Given the description of an element on the screen output the (x, y) to click on. 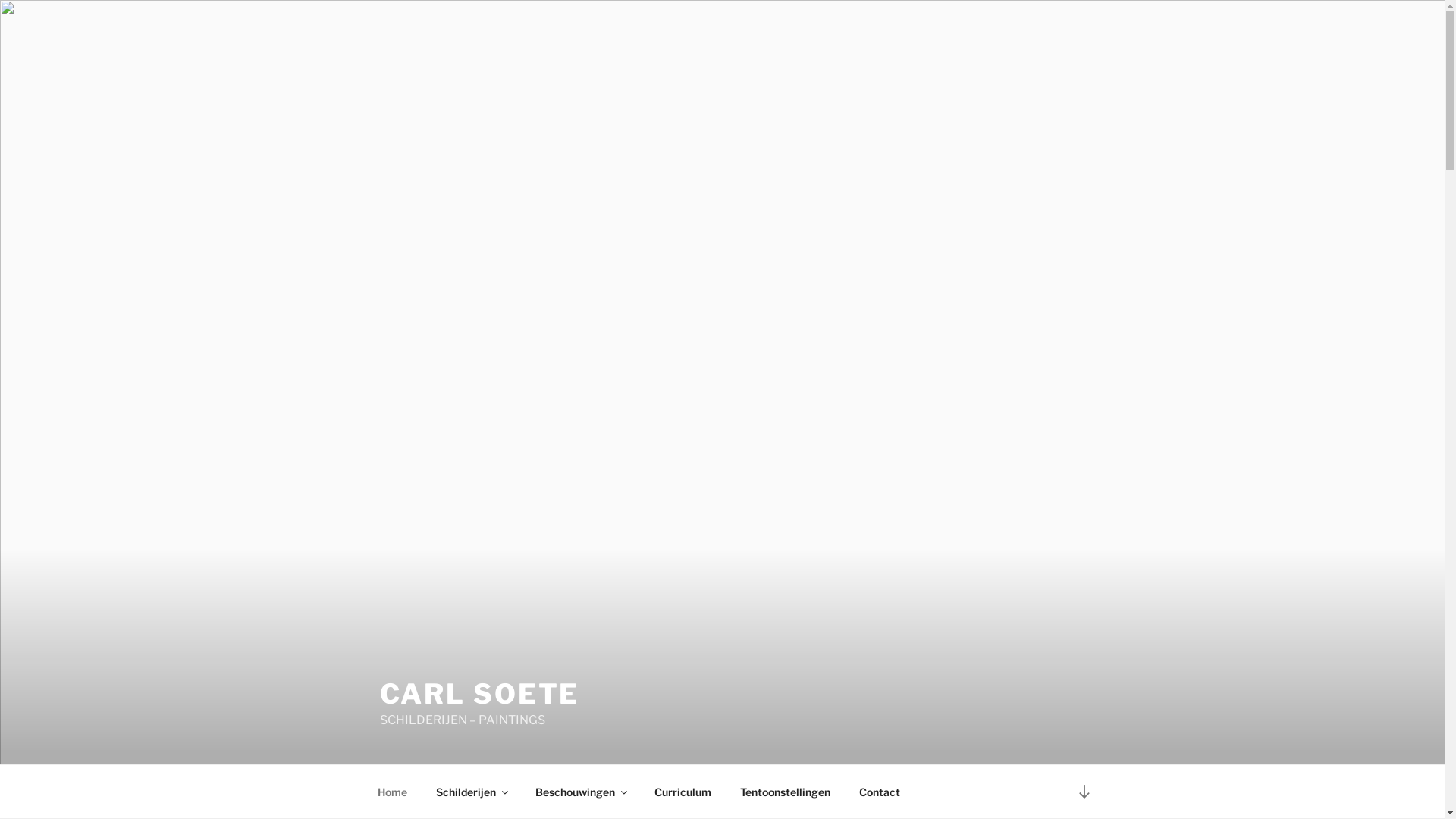
Schilderijen Element type: text (471, 791)
Contact Element type: text (879, 791)
CARL SOETE Element type: text (479, 693)
Home Element type: text (392, 791)
Tentoonstellingen Element type: text (784, 791)
Curriculum Element type: text (682, 791)
Scroll omlaag naar de content Element type: text (1083, 790)
Beschouwingen Element type: text (579, 791)
